Given the description of an element on the screen output the (x, y) to click on. 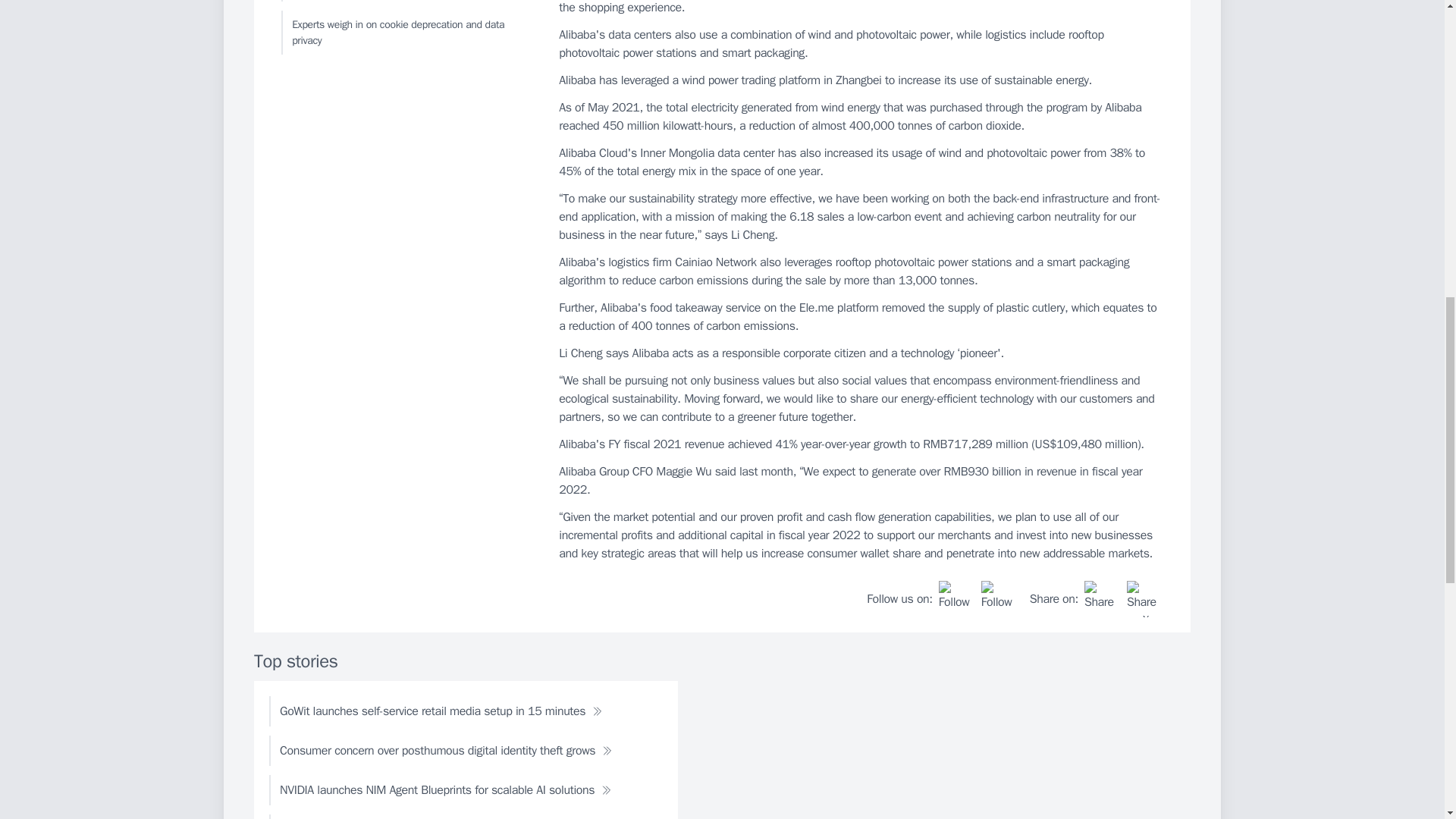
Experts weigh in on cookie deprecation and data privacy (406, 32)
GoWit launches self-service retail media setup in 15 minutes (440, 711)
